Given the description of an element on the screen output the (x, y) to click on. 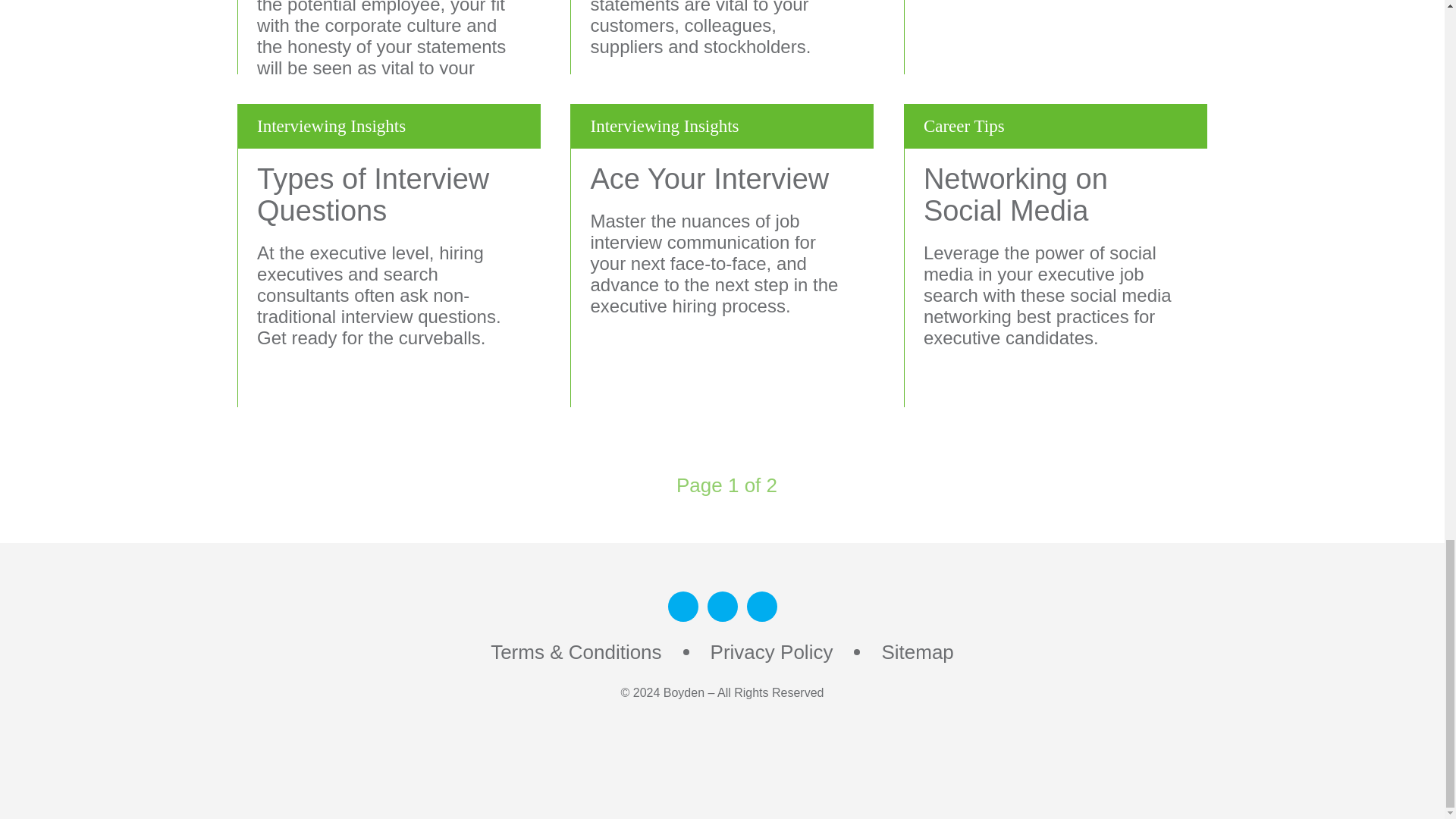
Follow Us on LinkedIn (681, 606)
Follow Us on Facebook (721, 606)
Follow Us on Twitter (760, 606)
